Given the description of an element on the screen output the (x, y) to click on. 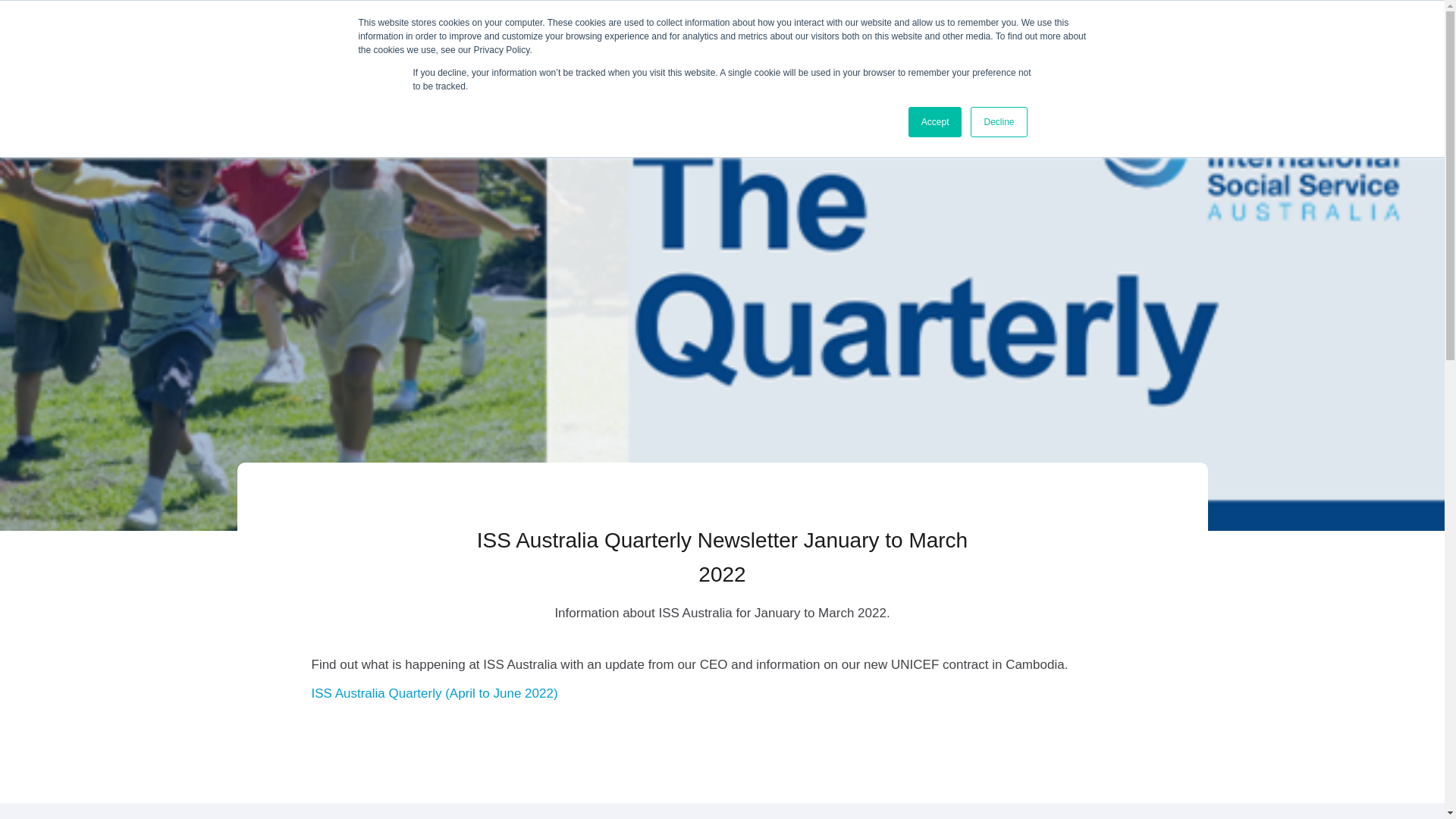
ISS Australia Quarterly (April to June 2022) Element type: text (433, 693)
Accept Element type: text (935, 121)
DONATE Element type: text (1143, 22)
Contact Us Element type: text (1047, 22)
Decline Element type: text (998, 121)
